Given the description of an element on the screen output the (x, y) to click on. 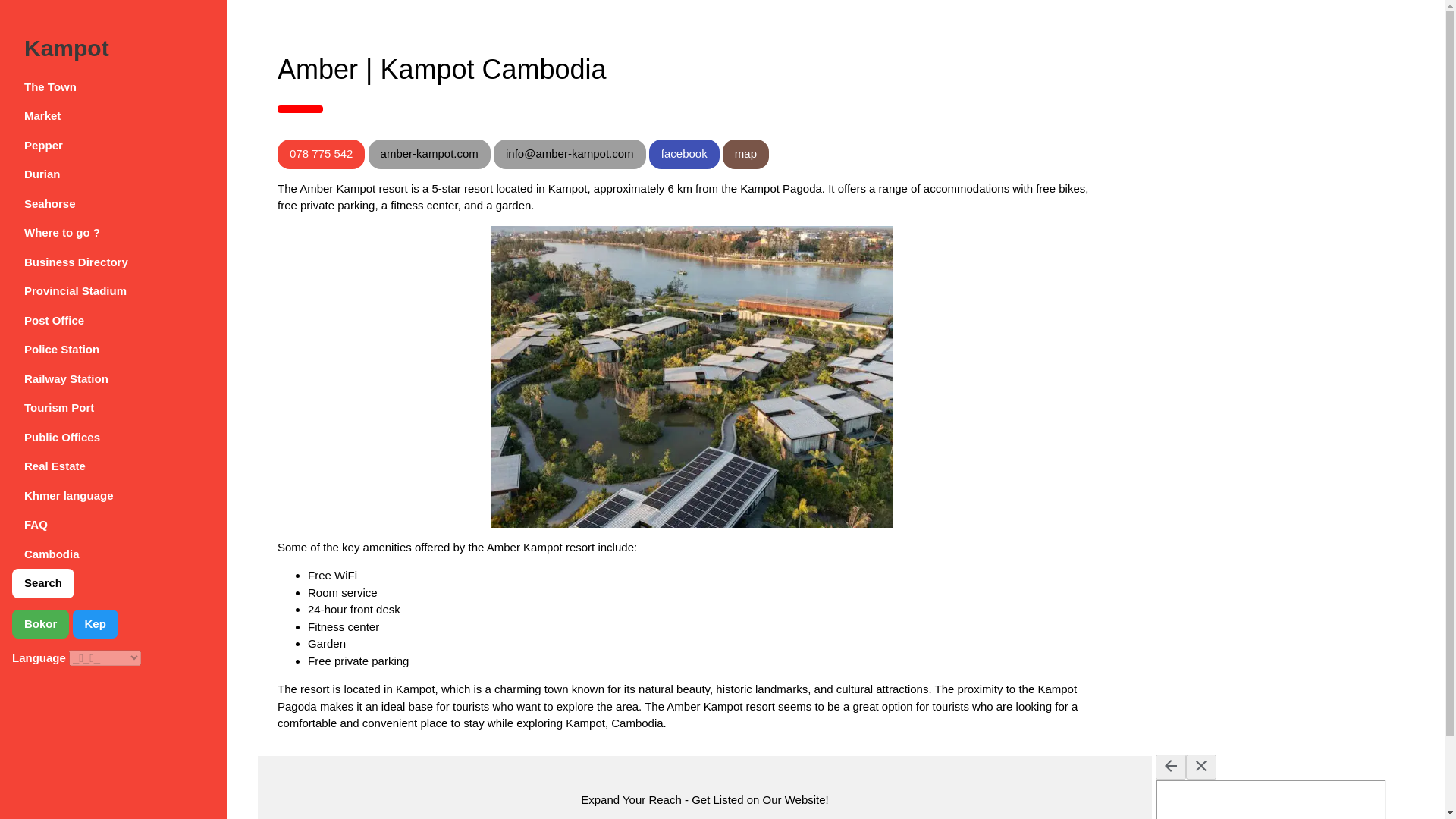
Search (42, 583)
Kep (94, 624)
facebook (684, 153)
Provincial Stadium (113, 291)
Police Station (113, 349)
Market (113, 116)
Business Directory (113, 262)
Tourism Port (113, 408)
Bokor (39, 624)
Seahorse (113, 204)
